Given the description of an element on the screen output the (x, y) to click on. 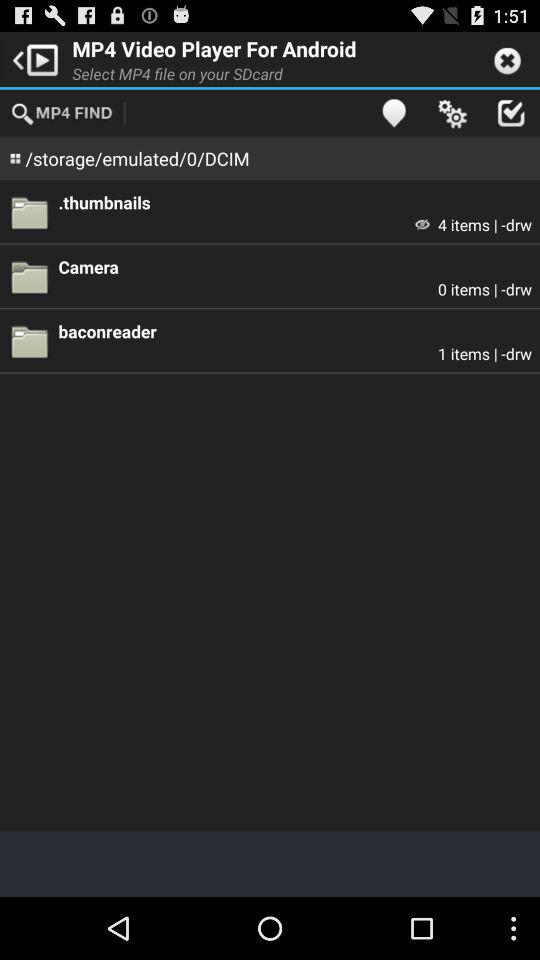
turn on baconreader app (295, 330)
